Given the description of an element on the screen output the (x, y) to click on. 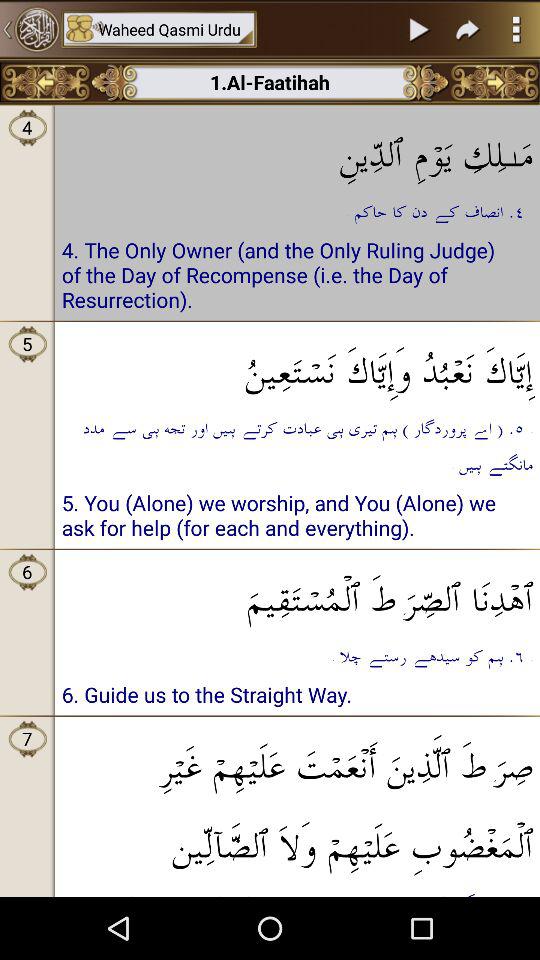
go to pause button (419, 29)
